Given the description of an element on the screen output the (x, y) to click on. 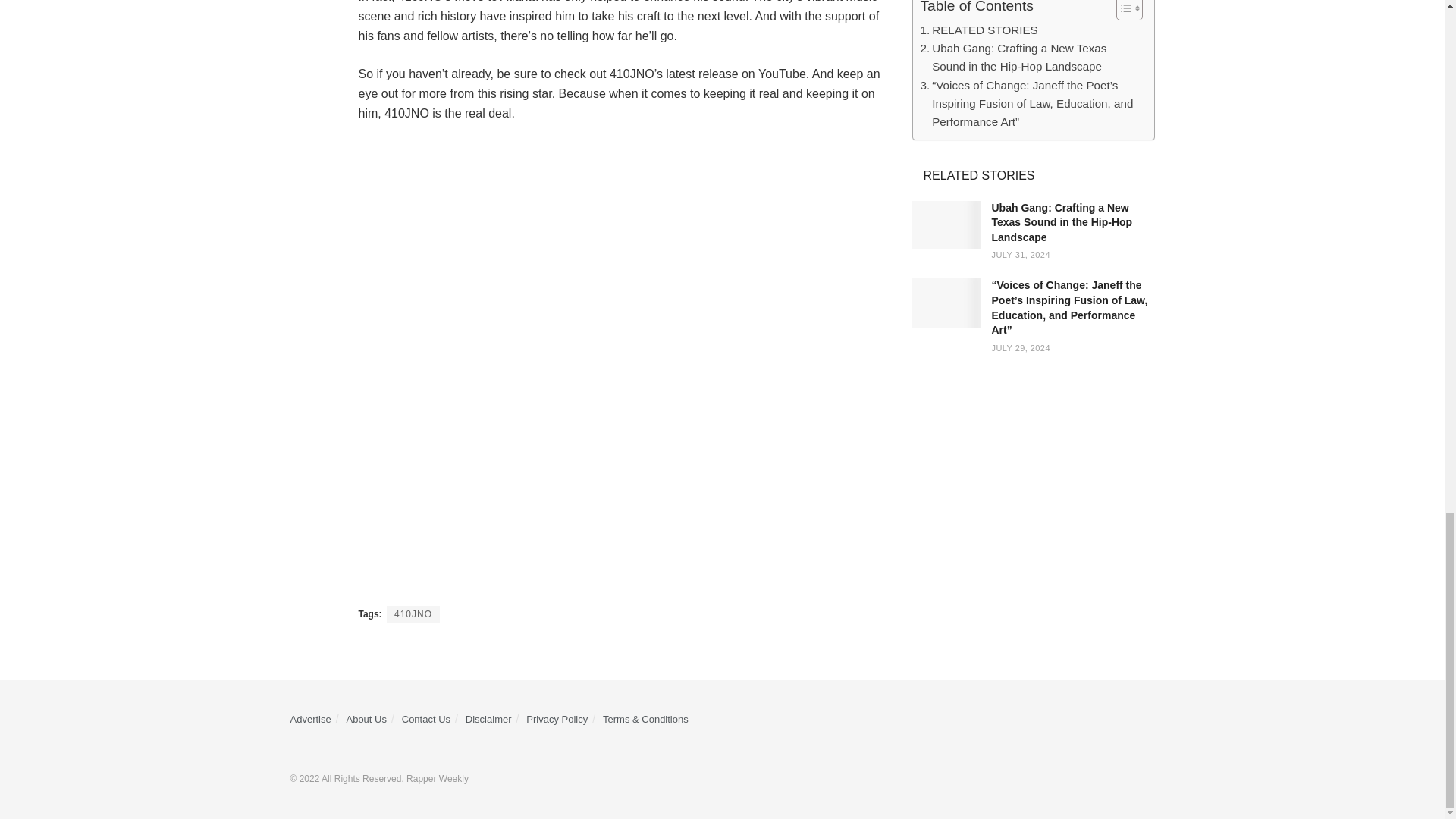
410JNO (413, 614)
JULY 31, 2024 (1020, 254)
RELATED STORIES (979, 30)
JULY 29, 2024 (1020, 347)
RELATED STORIES (979, 30)
